Given the description of an element on the screen output the (x, y) to click on. 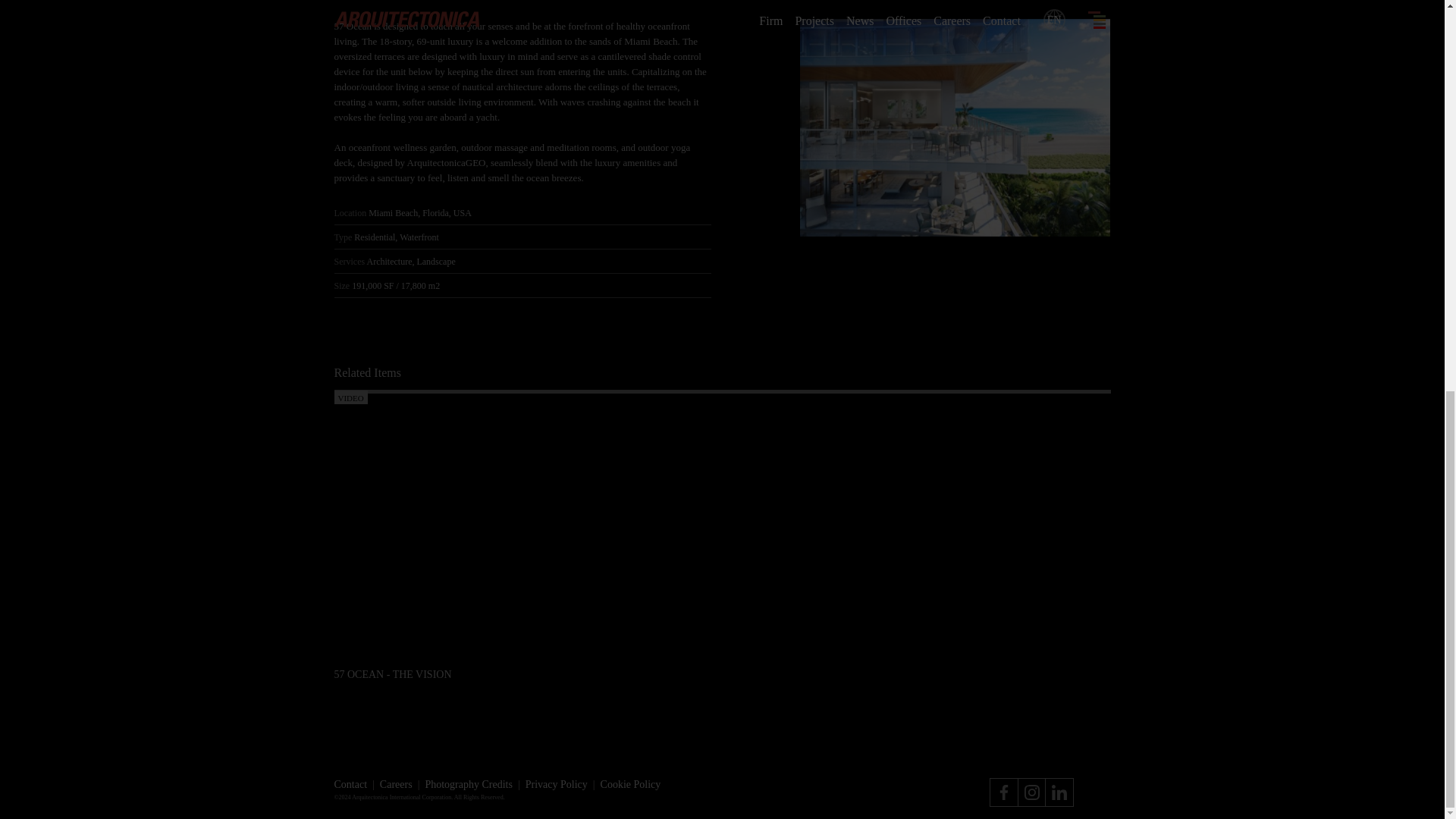
Photography Credits (468, 784)
57 OCEAN - THE VISION (454, 674)
Privacy Policy (556, 784)
Careers (396, 784)
Cookie Policy (630, 784)
Waterfront (418, 236)
Contact (349, 784)
Residential (373, 236)
